Given the description of an element on the screen output the (x, y) to click on. 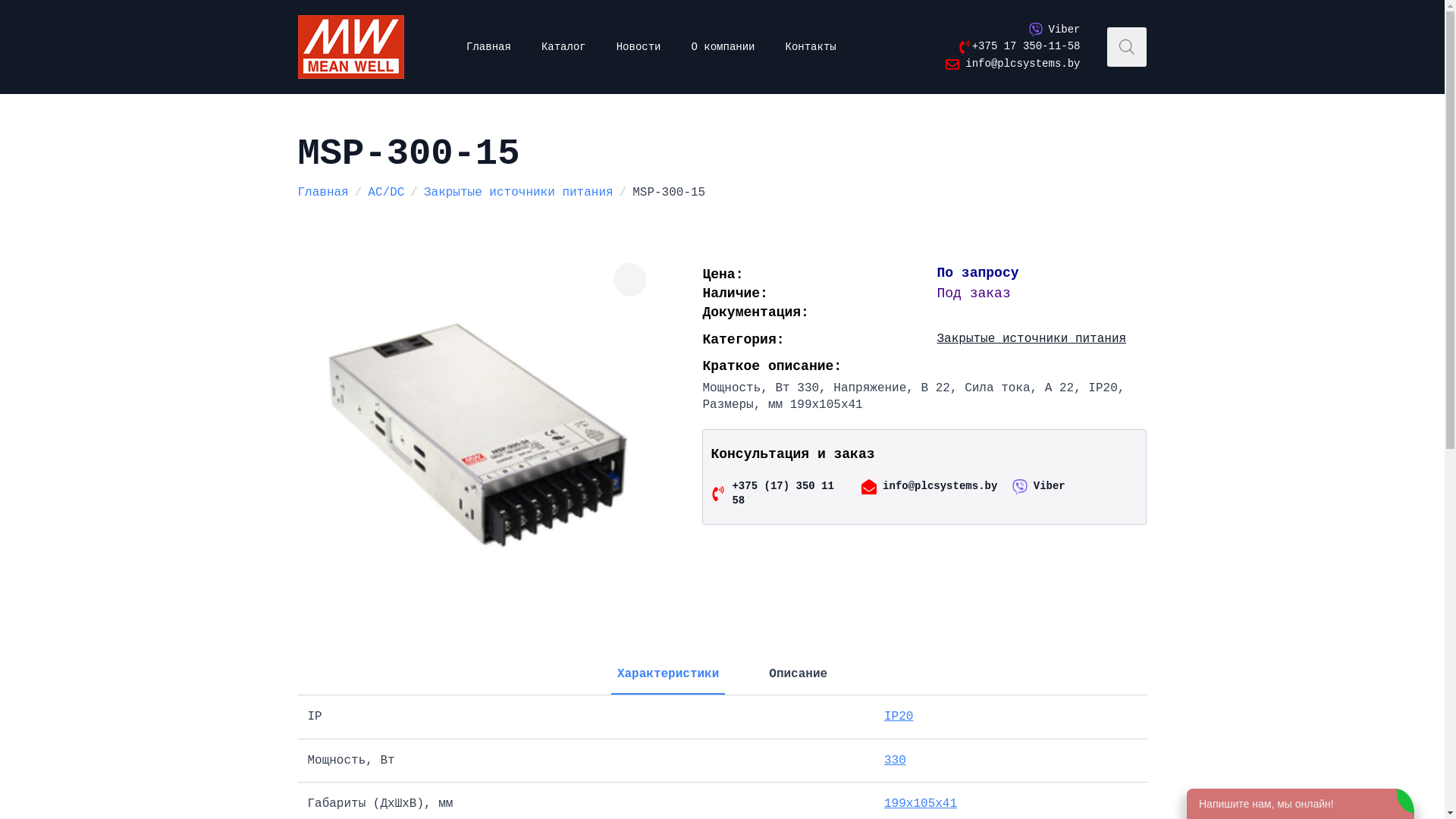
AC/DC Element type: text (385, 192)
Viber Element type: text (1053, 29)
+375 (17) 350 11 58 Element type: text (773, 493)
info@plcsystems.by Element type: text (924, 486)
+375 17 350-11-58 Element type: text (1016, 46)
330 Element type: text (895, 760)
199x105x41 Element type: text (920, 803)
Viber Element type: text (1038, 486)
IP20 Element type: text (898, 716)
info@plcsystems.by Element type: text (1012, 64)
